Given the description of an element on the screen output the (x, y) to click on. 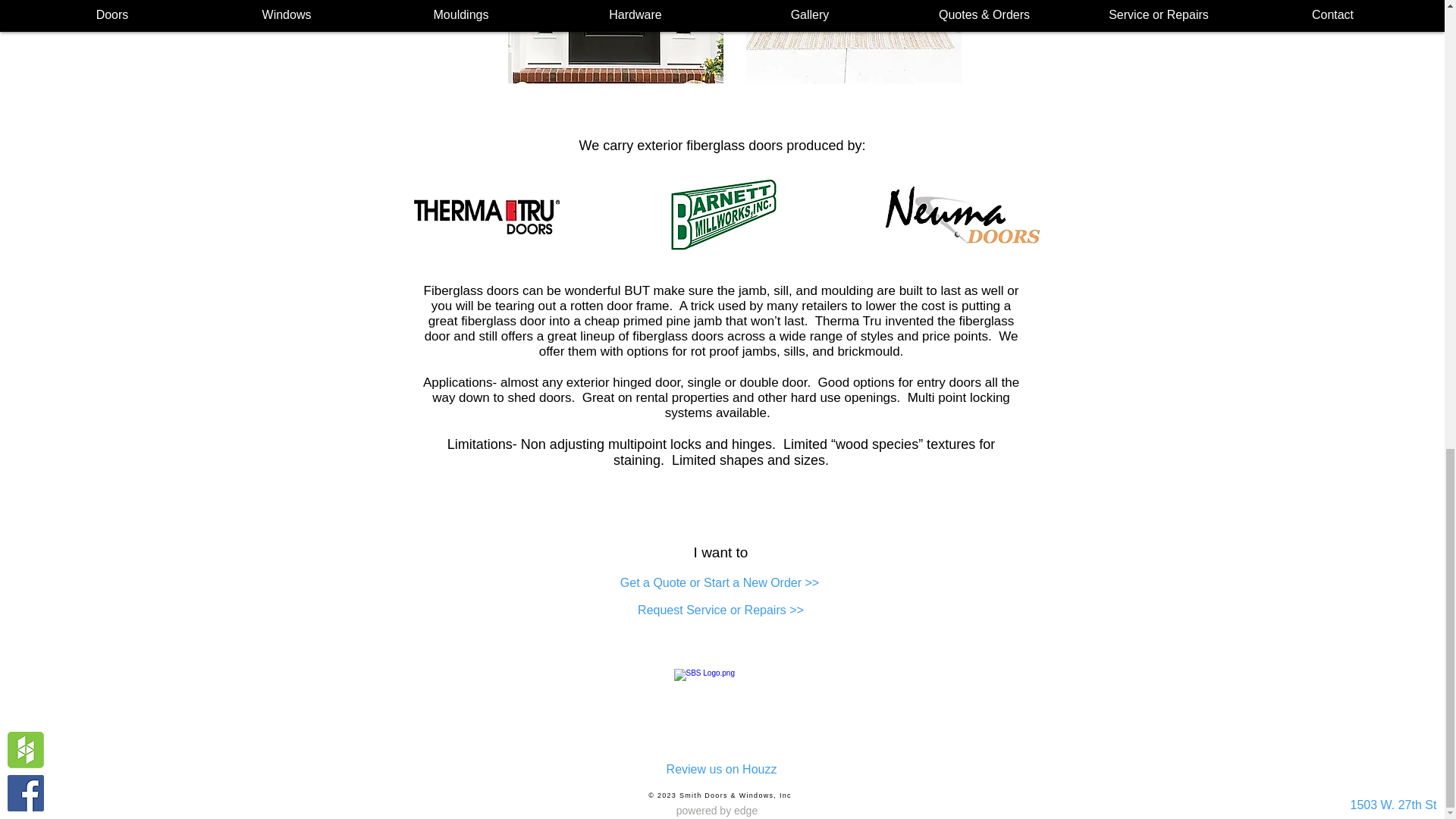
Neuma Door Dealer Panama City (962, 214)
Timberland Interior Routed Doors Panama City (721, 214)
Therma Tru Door Dealer Bay County (487, 214)
Fiberglass Doors Panama City (852, 41)
Review us on Houzz (720, 769)
Fiberglass Doors Panama City (615, 41)
